Given the description of an element on the screen output the (x, y) to click on. 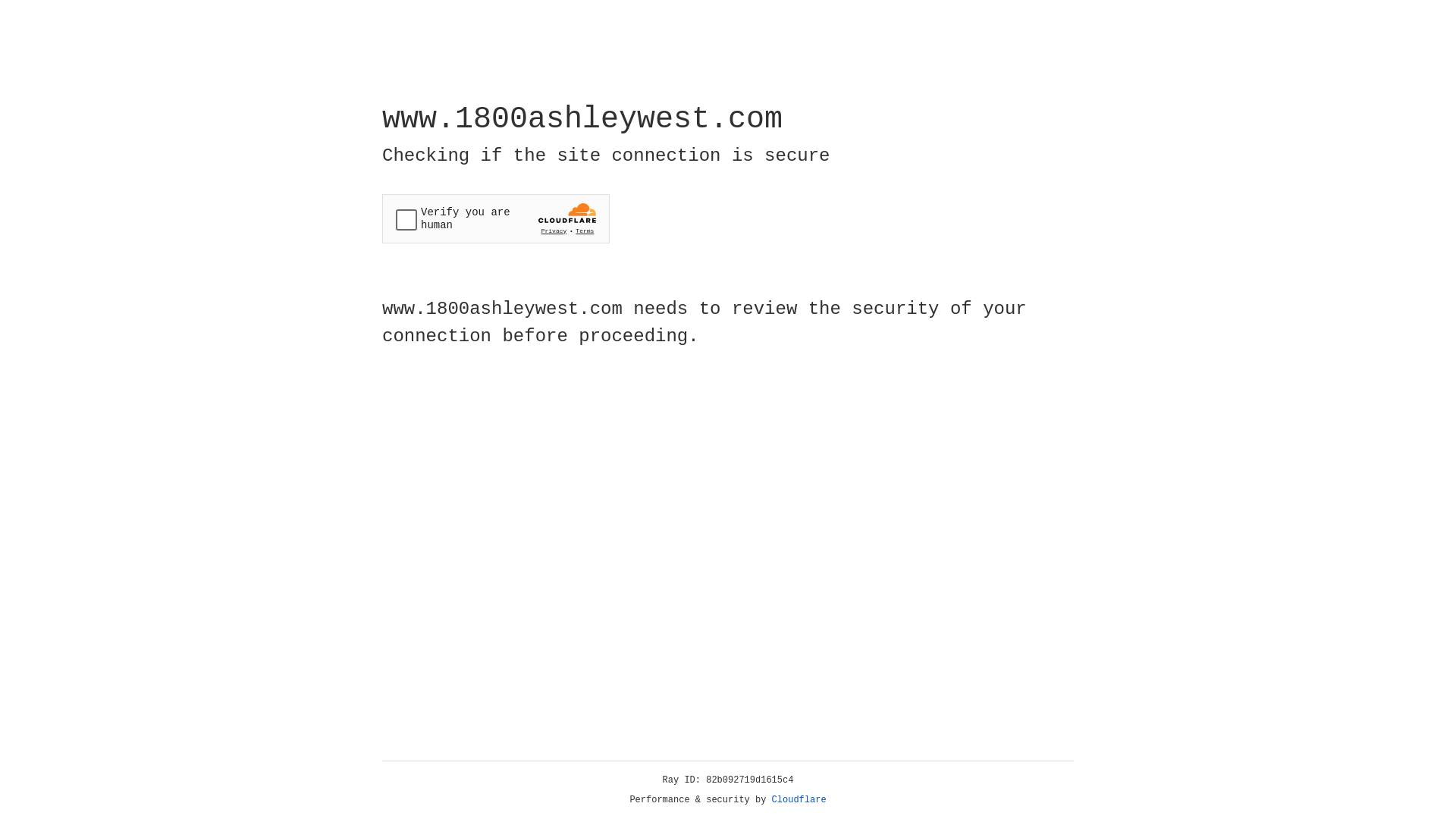
Widget containing a Cloudflare security challenge Element type: hover (495, 218)
Cloudflare Element type: text (798, 799)
